Given the description of an element on the screen output the (x, y) to click on. 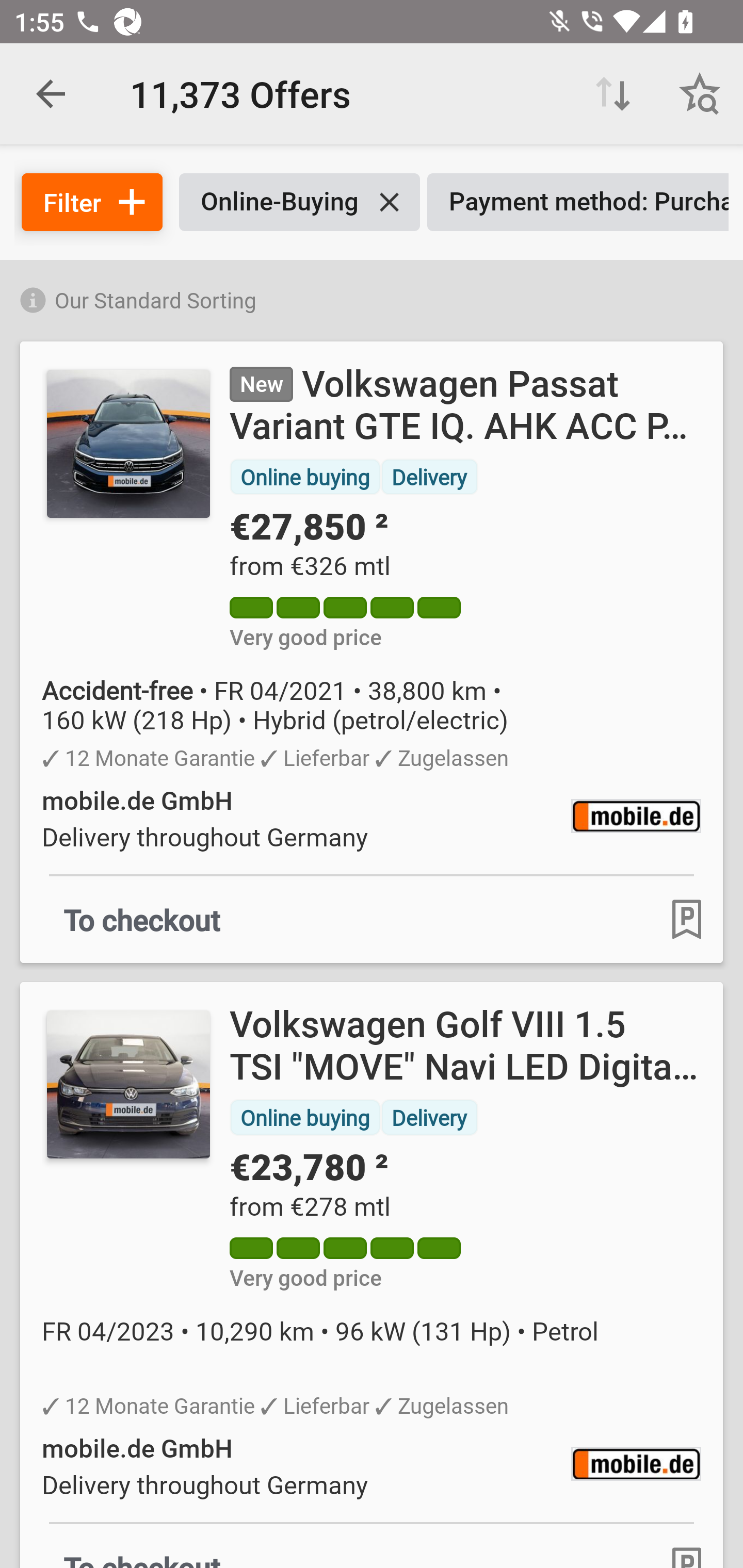
Navigate up (50, 93)
Sort options (612, 93)
Save search (699, 93)
Online-Buying Remove Online-Buying (299, 202)
Payment method: Purchase (577, 202)
Filter (91, 202)
Our Standard Sorting (371, 296)
To checkout (142, 919)
